Given the description of an element on the screen output the (x, y) to click on. 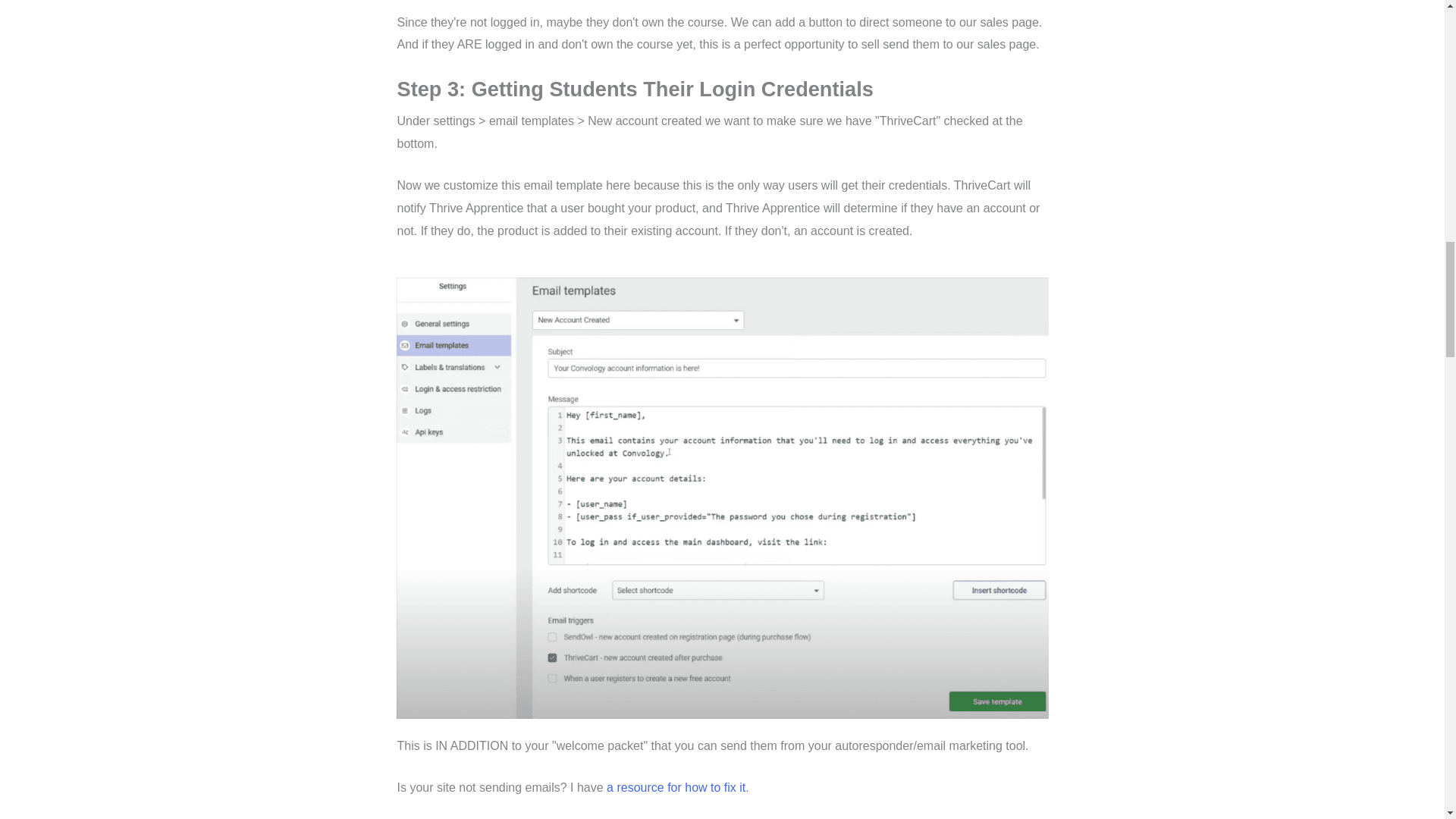
a resource for how to fix it (676, 787)
